Given the description of an element on the screen output the (x, y) to click on. 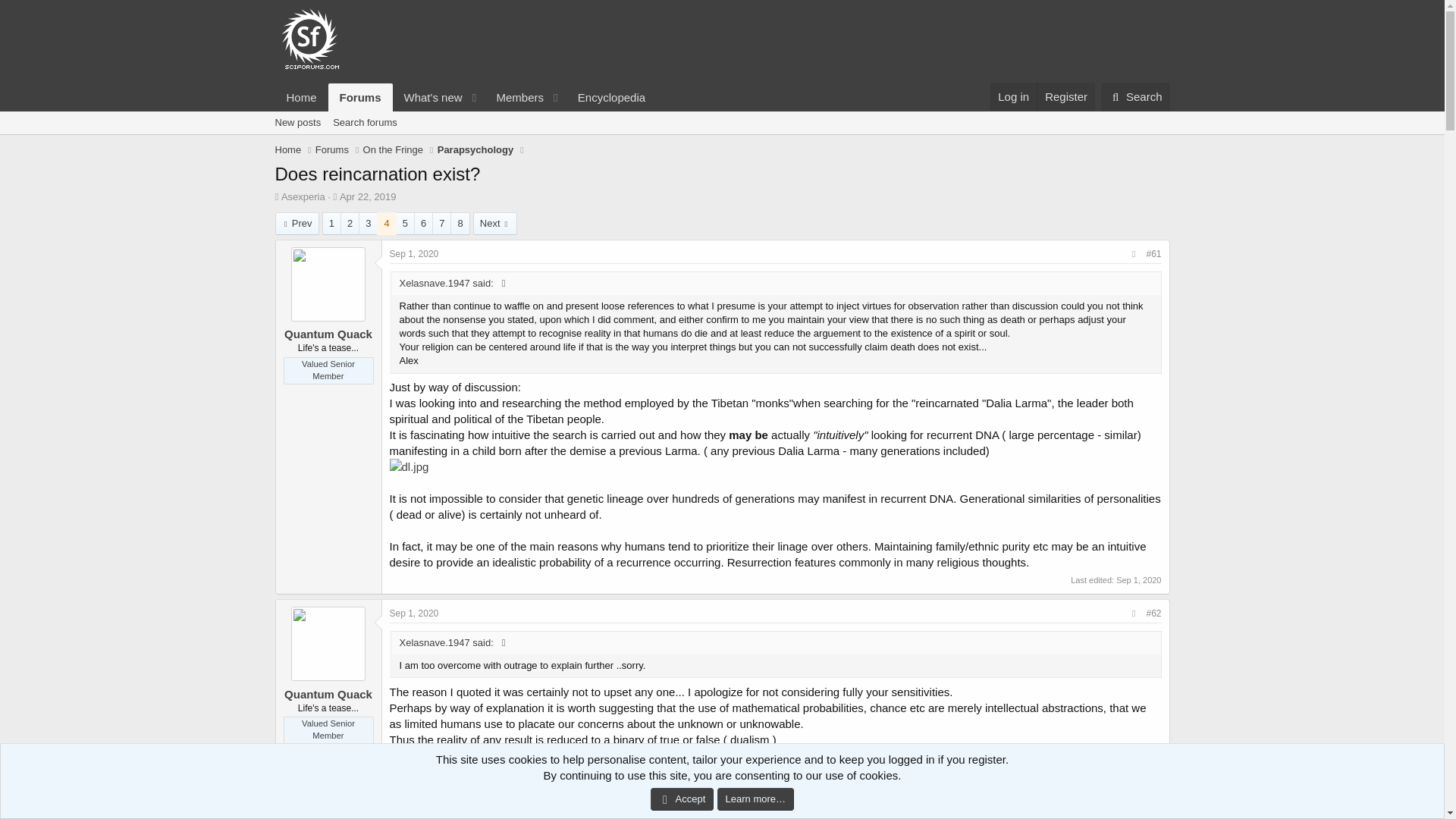
Log in (1013, 96)
Parapsychology (475, 150)
2 (349, 223)
Encyclopedia (611, 97)
What's new (428, 97)
Register (1065, 96)
Members (514, 97)
New posts (464, 97)
Forums (296, 122)
Prev (332, 150)
Sep 1, 2020 at 12:56 AM (296, 223)
dl.jpg (1138, 579)
Search (409, 466)
Sep 1, 2020 at 12:28 AM (1135, 96)
